Given the description of an element on the screen output the (x, y) to click on. 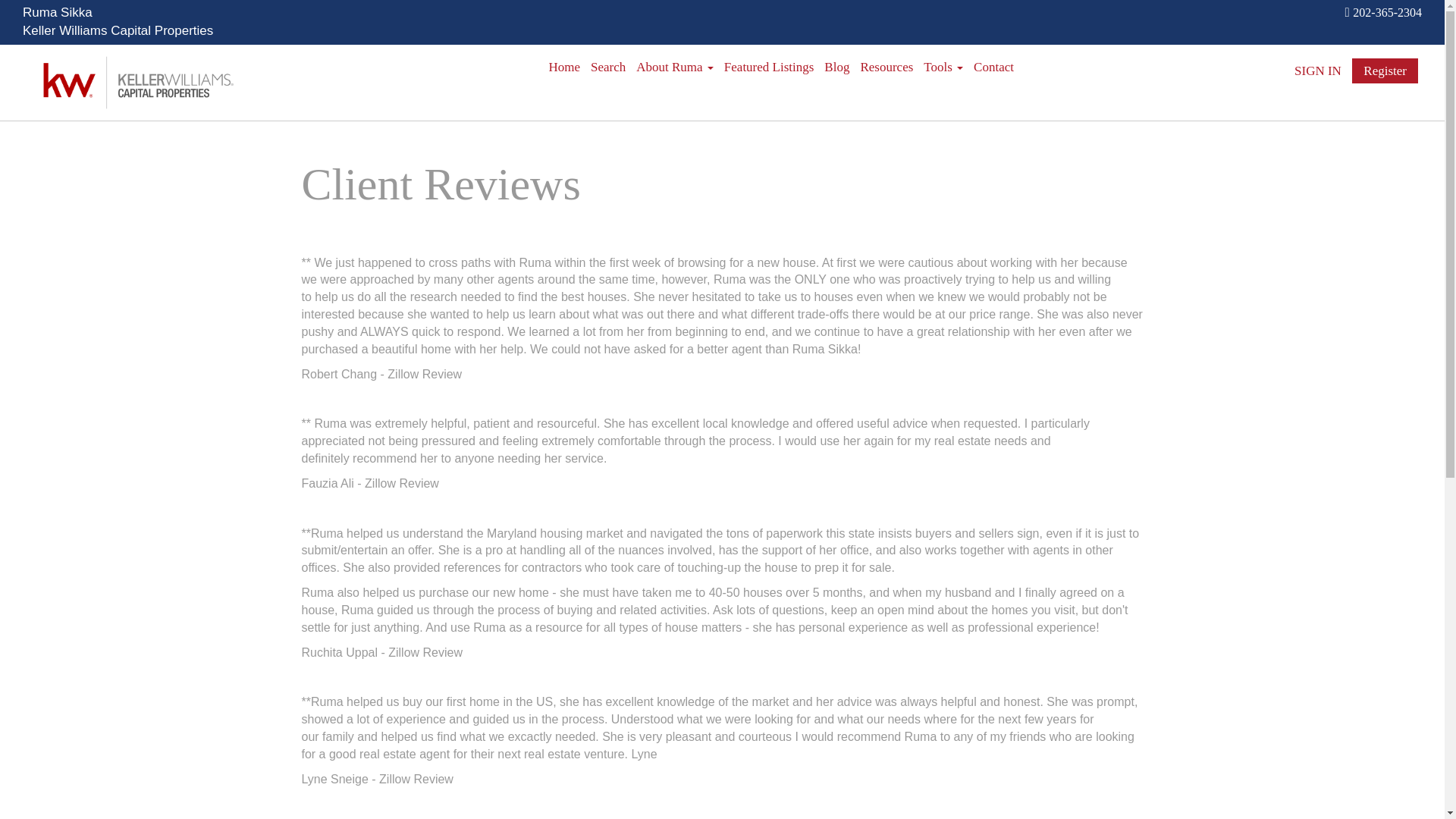
Home (564, 67)
Find the perfect home, schedule showing times and more! (607, 67)
Featured Listings (769, 67)
Contact (993, 67)
Suma Rikka Resources (886, 67)
SIGN IN (1317, 70)
About Ruma (674, 67)
202-365-2304 (1387, 11)
Tools (943, 67)
Search (607, 67)
Tools (943, 67)
Find your next home here.... (769, 67)
Blog (836, 67)
Questions or comments?  Email, call, fax or write us. (993, 67)
Register (1385, 70)
